Given the description of an element on the screen output the (x, y) to click on. 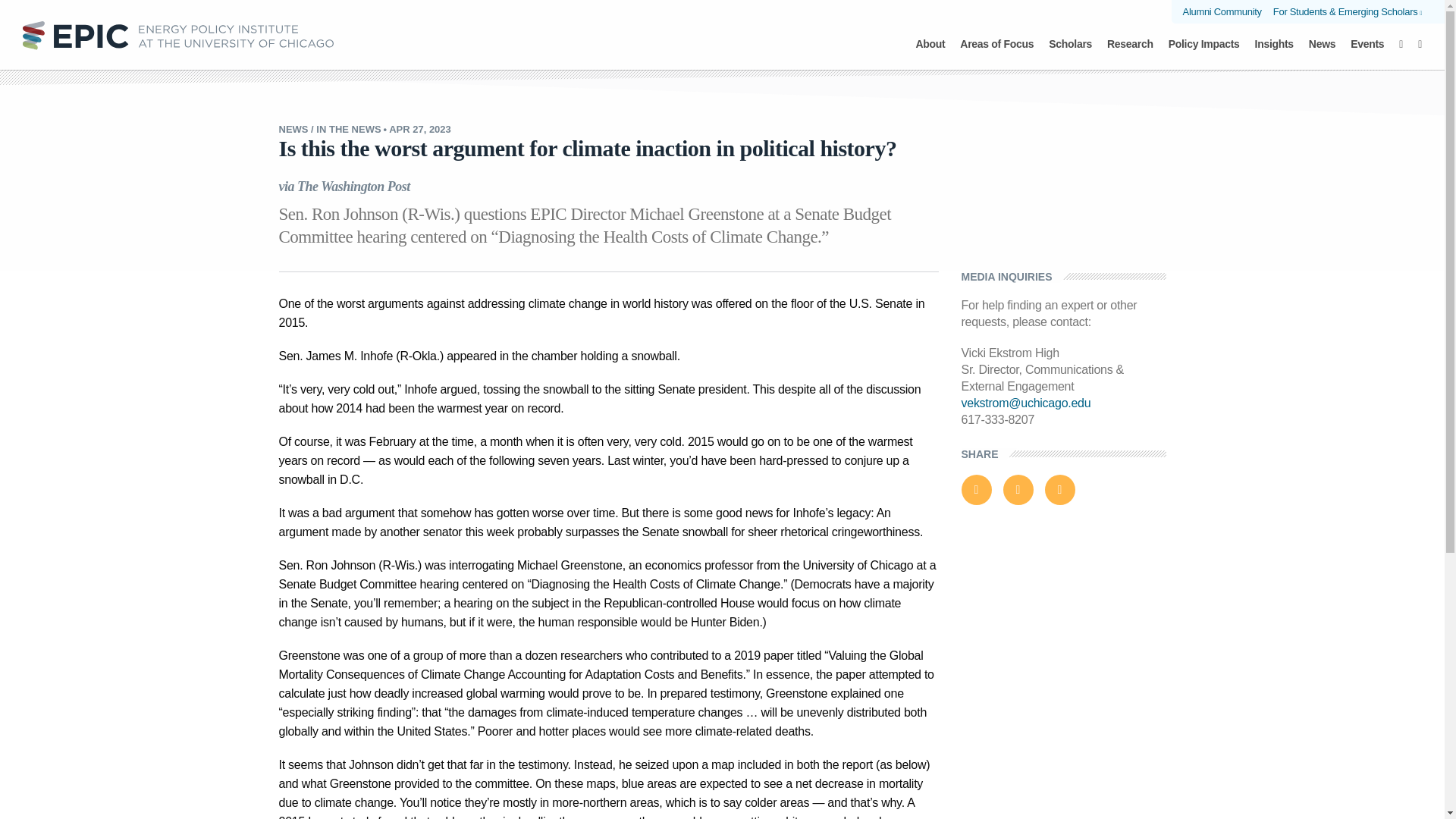
Visiting Fellows (722, 38)
Contact (938, 38)
Areas of Focus (996, 52)
Research (1129, 52)
EPIC (178, 33)
Scholars (1070, 52)
Our Team (518, 38)
Advisory Group (614, 38)
Abrams Environmental Law Clinic (721, 26)
